Given the description of an element on the screen output the (x, y) to click on. 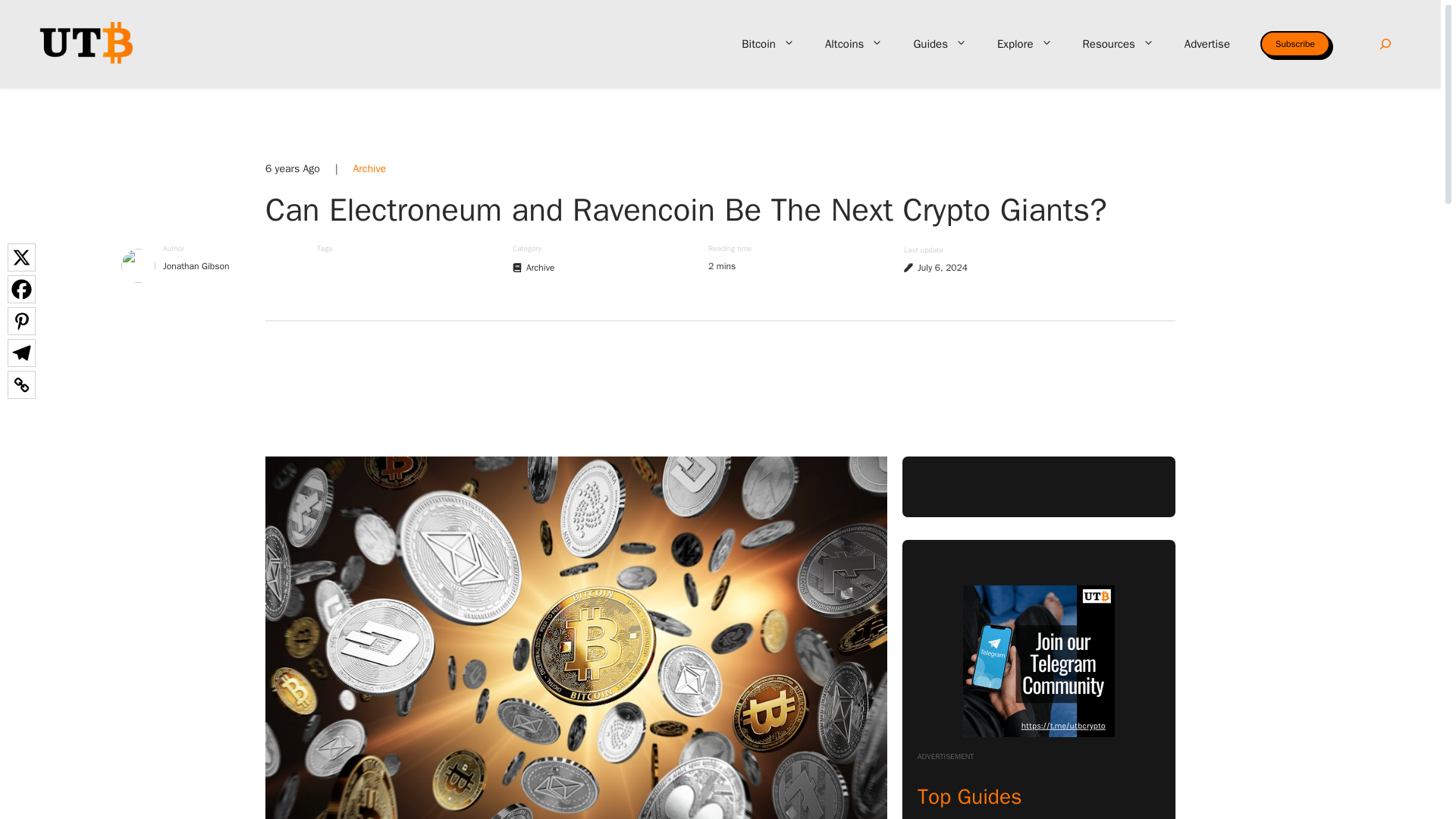
cryptohopper banner ads (719, 386)
Altcoins (853, 43)
Guides (939, 43)
Explore (1024, 43)
Bitcoin (767, 43)
